Given the description of an element on the screen output the (x, y) to click on. 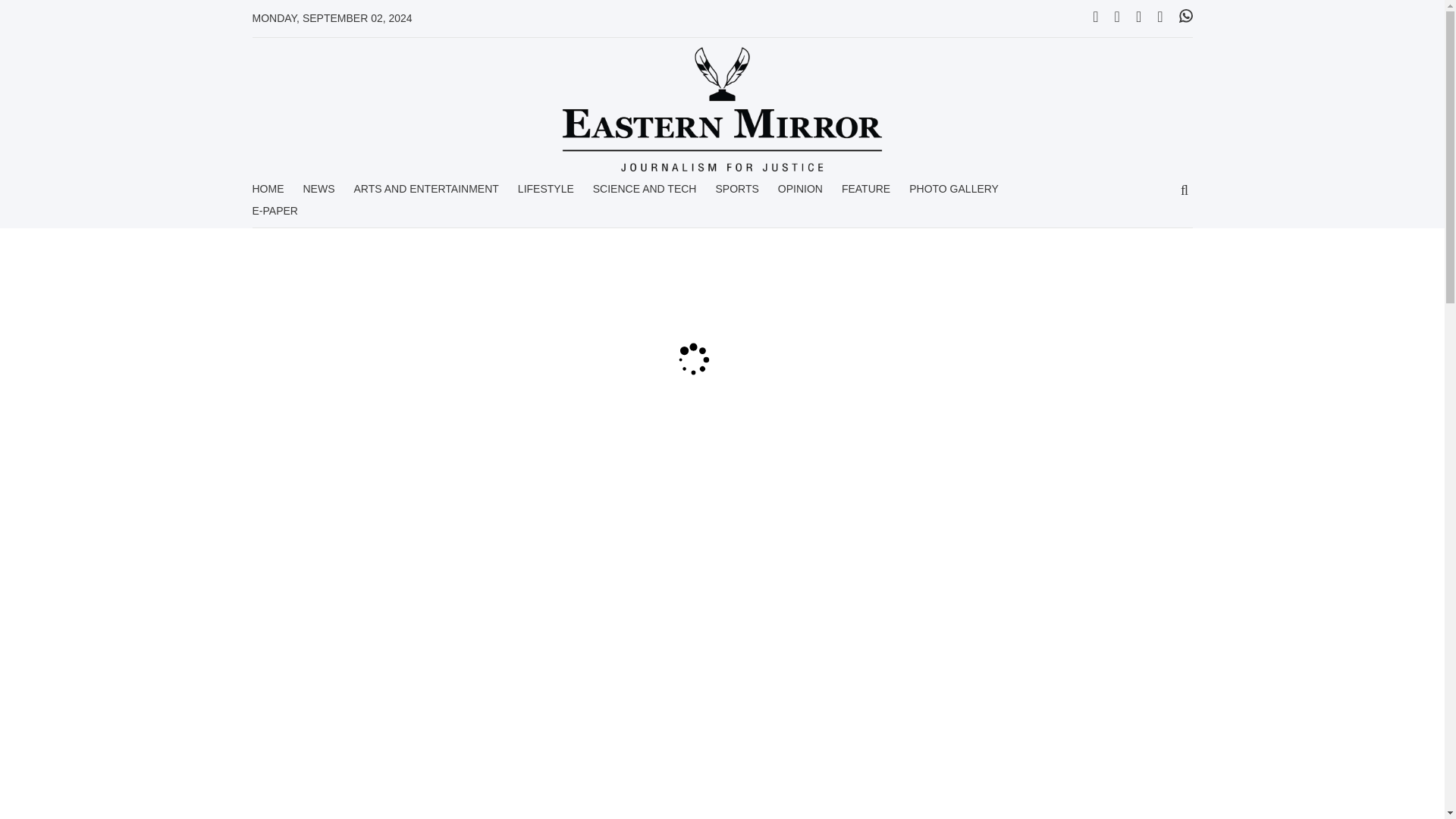
NEWS (318, 194)
HOME (267, 194)
Eastern Mirror (722, 109)
GO (1184, 191)
LIFESTYLE (545, 194)
GO (1184, 191)
ARTS AND ENTERTAINMENT (425, 194)
